Given the description of an element on the screen output the (x, y) to click on. 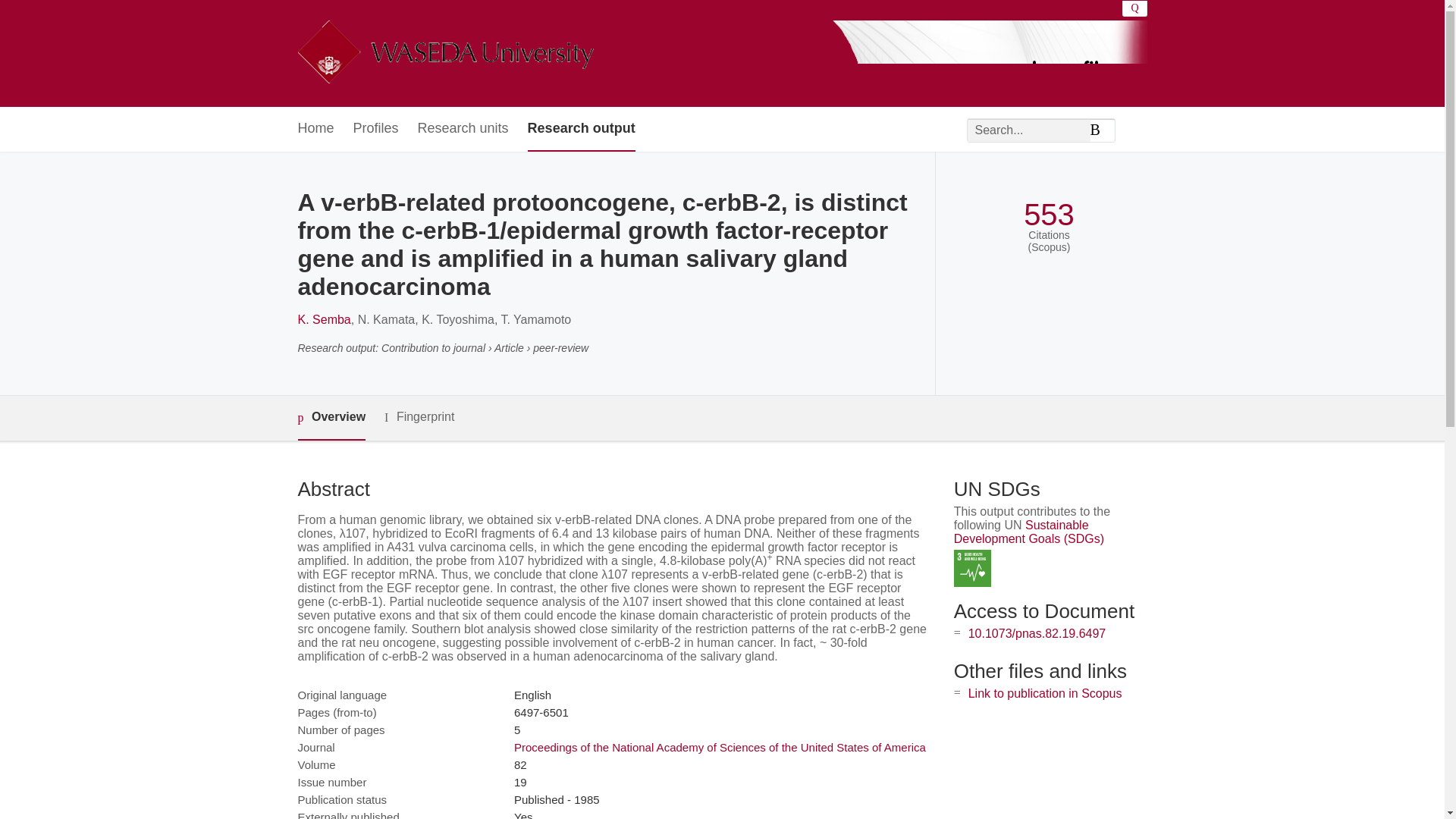
Overview (331, 417)
Link to publication in Scopus (1045, 693)
553 (1048, 214)
Research output (580, 129)
Research units (462, 129)
Fingerprint (419, 416)
Profiles (375, 129)
SDG 3 - Good Health and Well-being (972, 568)
Waseda University Home (444, 53)
